Given the description of an element on the screen output the (x, y) to click on. 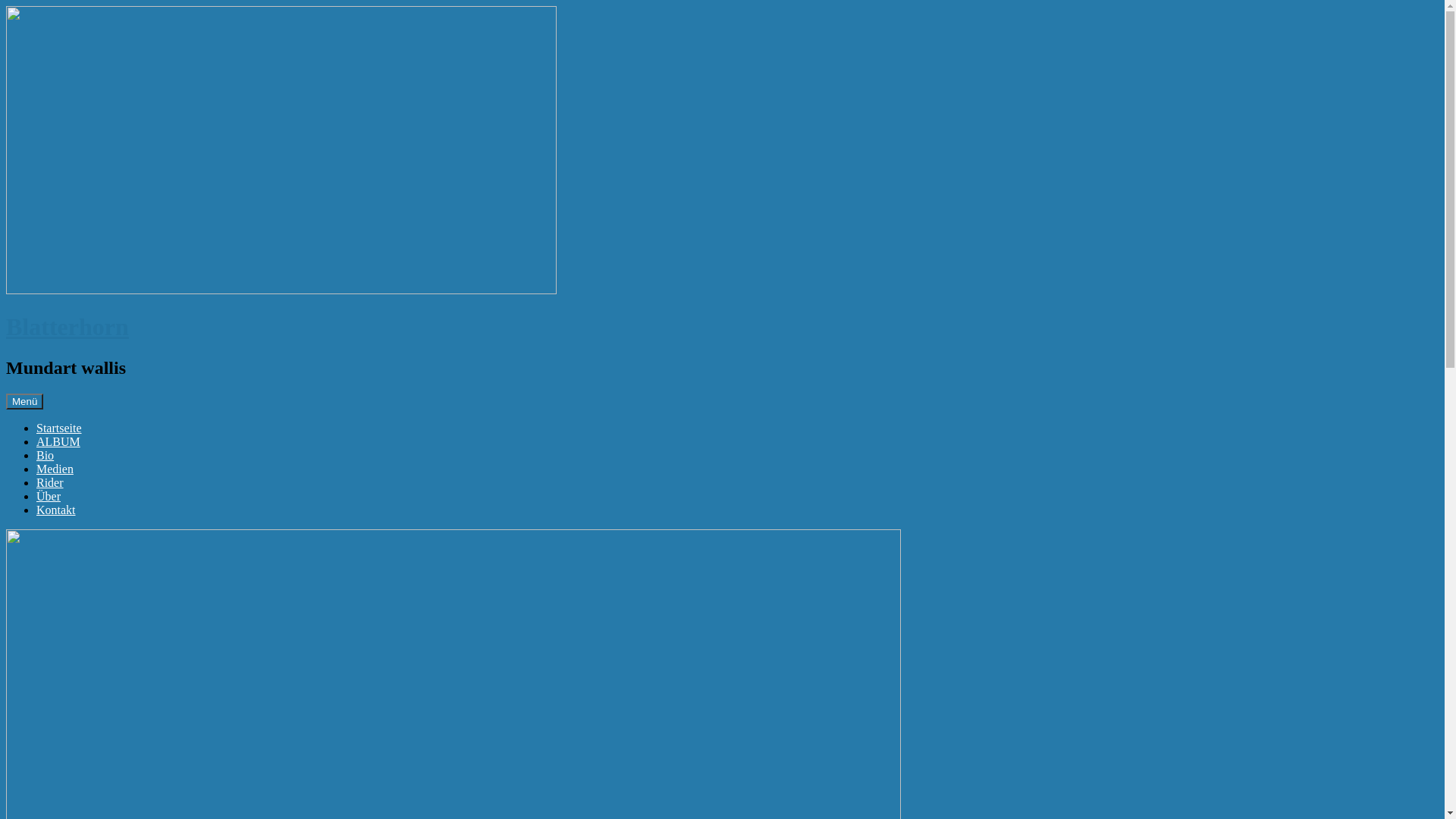
Kontakt Element type: text (55, 509)
Blatterhorn Element type: text (67, 326)
Rider Element type: text (49, 482)
Medien Element type: text (54, 468)
Startseite Element type: text (58, 427)
Bio Element type: text (44, 454)
ALBUM Element type: text (58, 441)
